Given the description of an element on the screen output the (x, y) to click on. 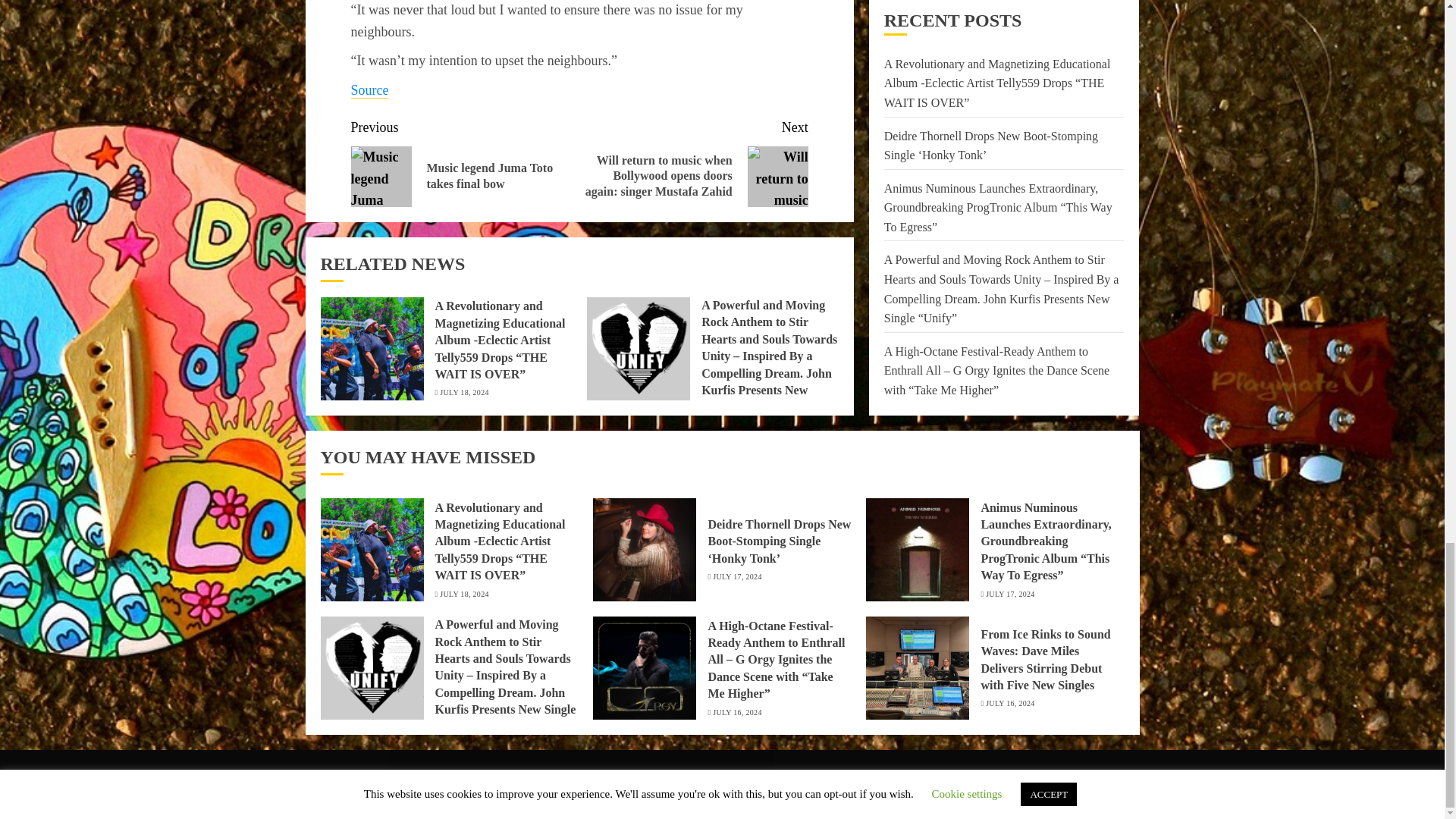
JULY 17, 2024 (1009, 593)
Source (369, 90)
JULY 18, 2024 (463, 392)
JULY 17, 2024 (737, 576)
Music legend Juma Toto takes final bow (380, 176)
JULY 18, 2024 (463, 593)
